Given the description of an element on the screen output the (x, y) to click on. 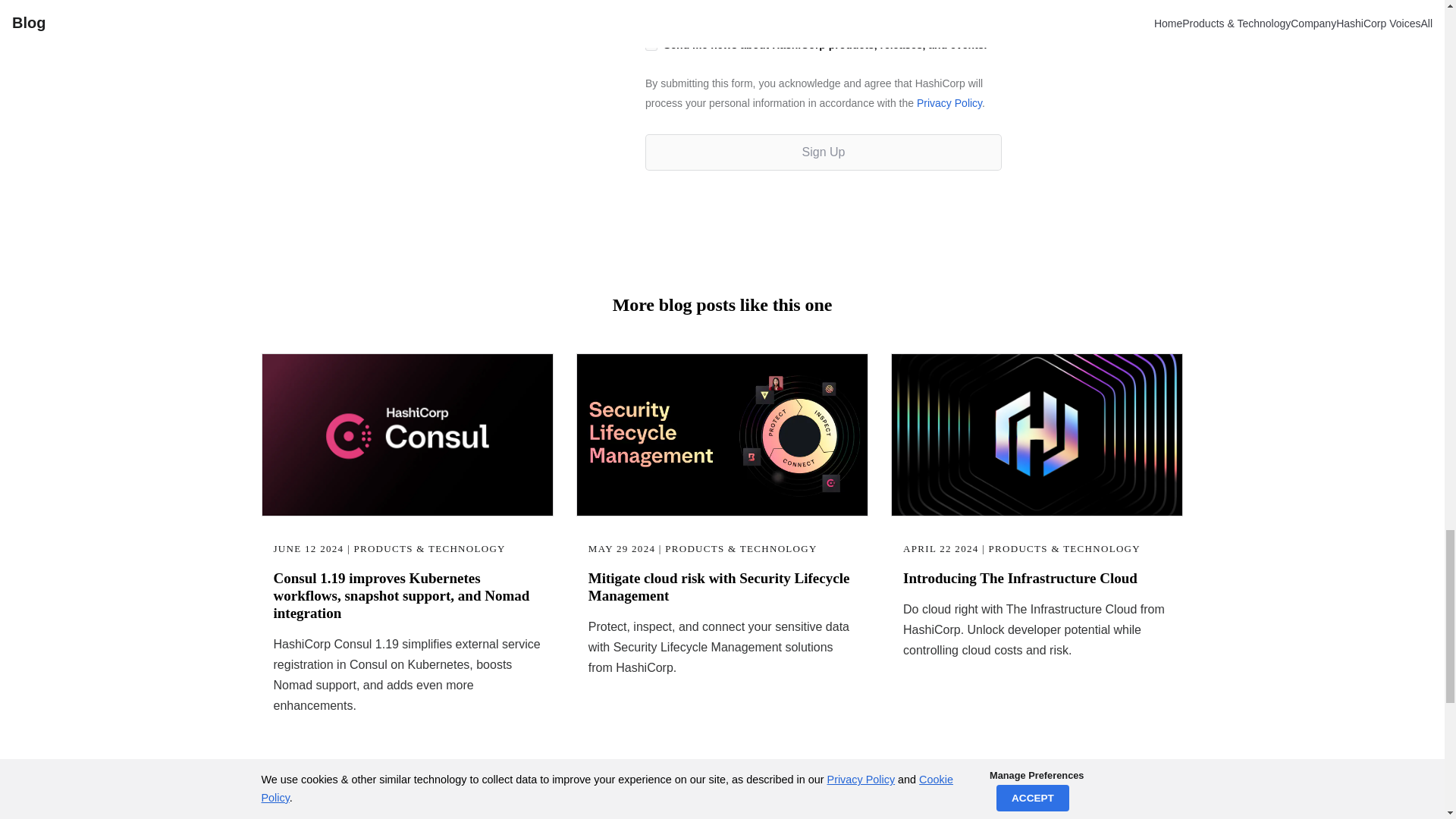
on (651, 44)
